Given the description of an element on the screen output the (x, y) to click on. 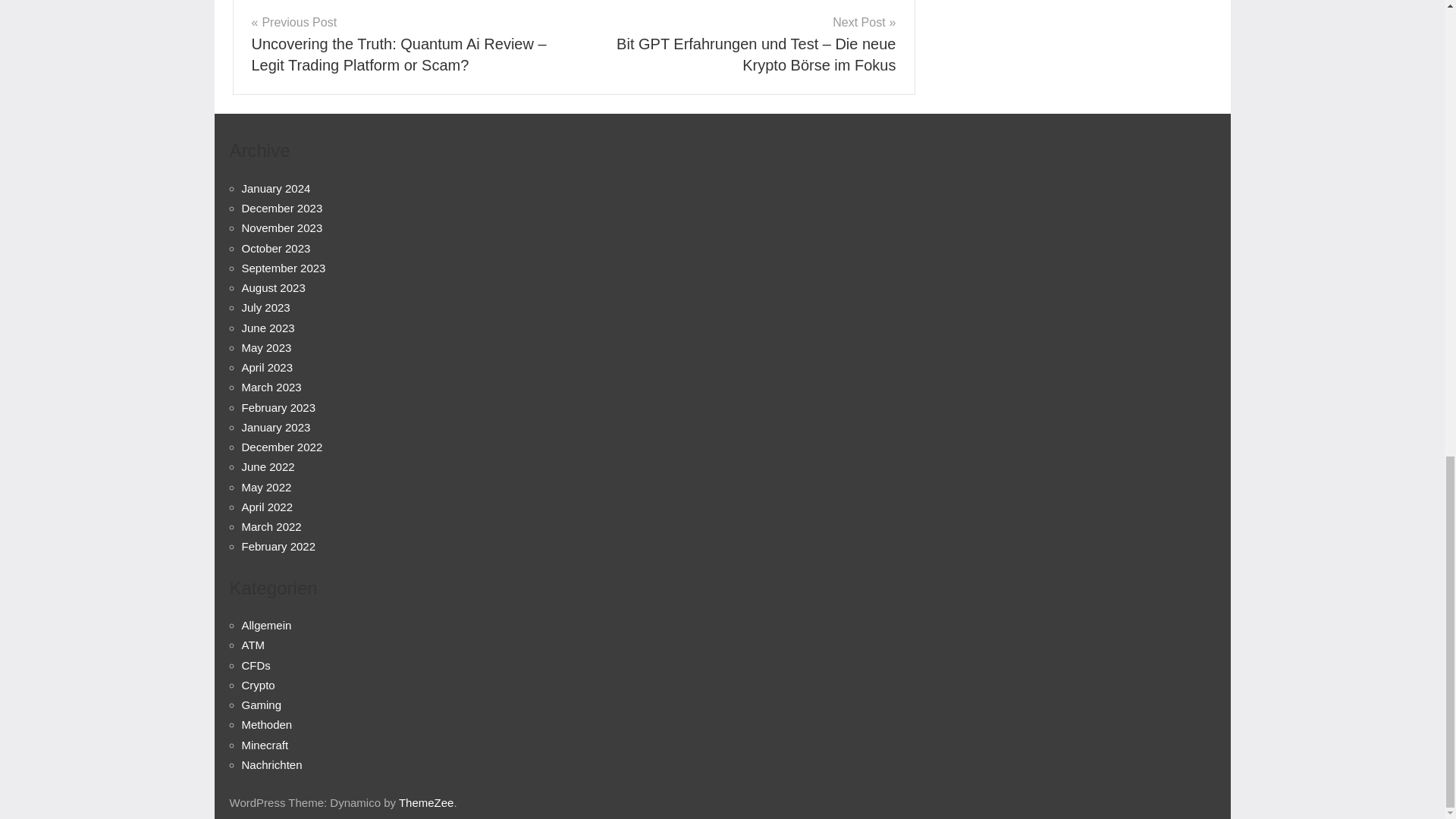
April 2022 (266, 506)
February 2023 (278, 407)
October 2023 (275, 247)
ATM (252, 644)
January 2024 (275, 187)
May 2023 (266, 347)
Methoden (266, 724)
September 2023 (282, 267)
March 2023 (271, 386)
Crypto (258, 684)
June 2022 (267, 466)
February 2022 (278, 545)
April 2023 (266, 367)
December 2023 (281, 207)
November 2023 (281, 227)
